Given the description of an element on the screen output the (x, y) to click on. 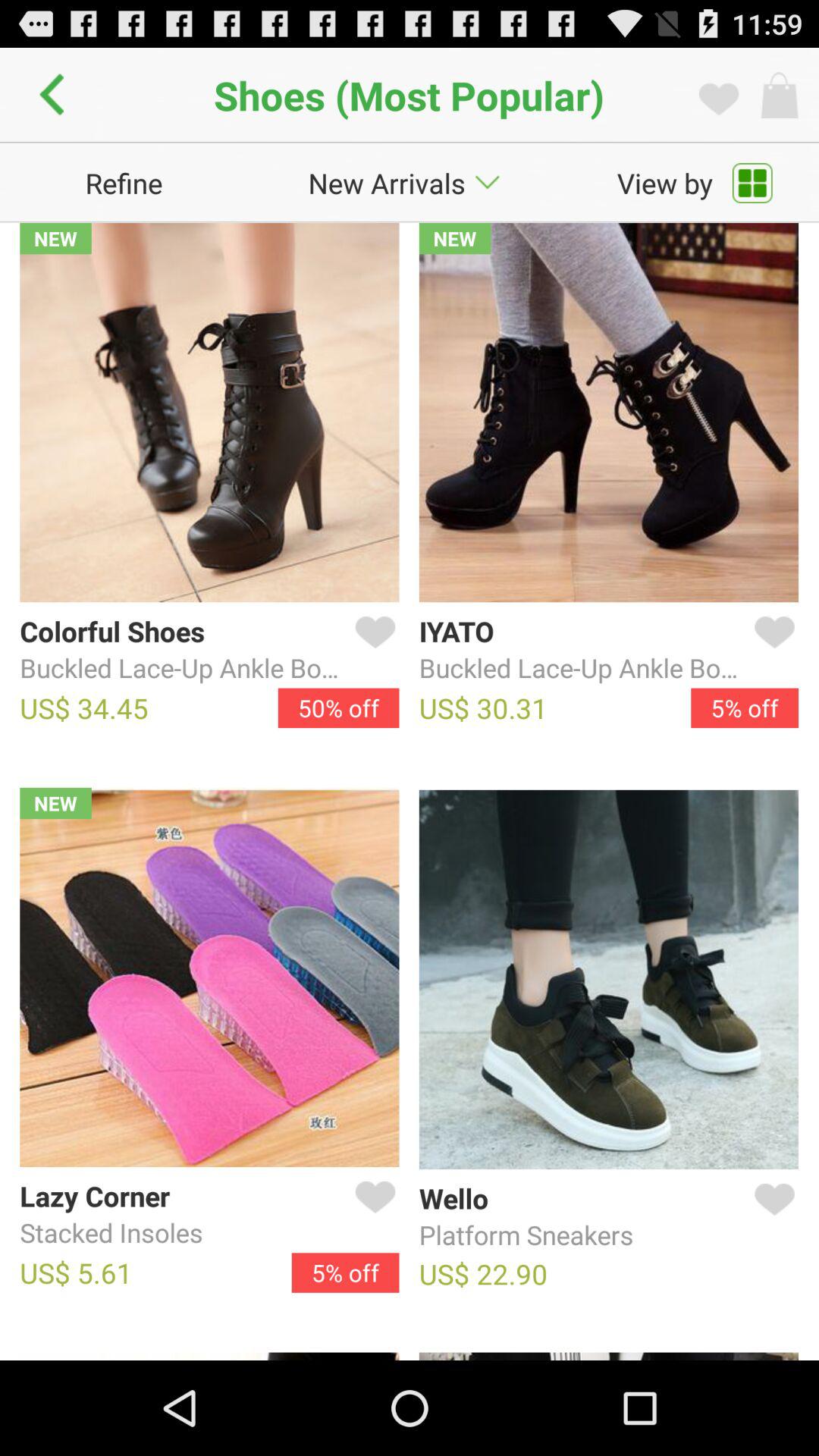
tap app to the left of shoes (most popular) icon (56, 94)
